Given the description of an element on the screen output the (x, y) to click on. 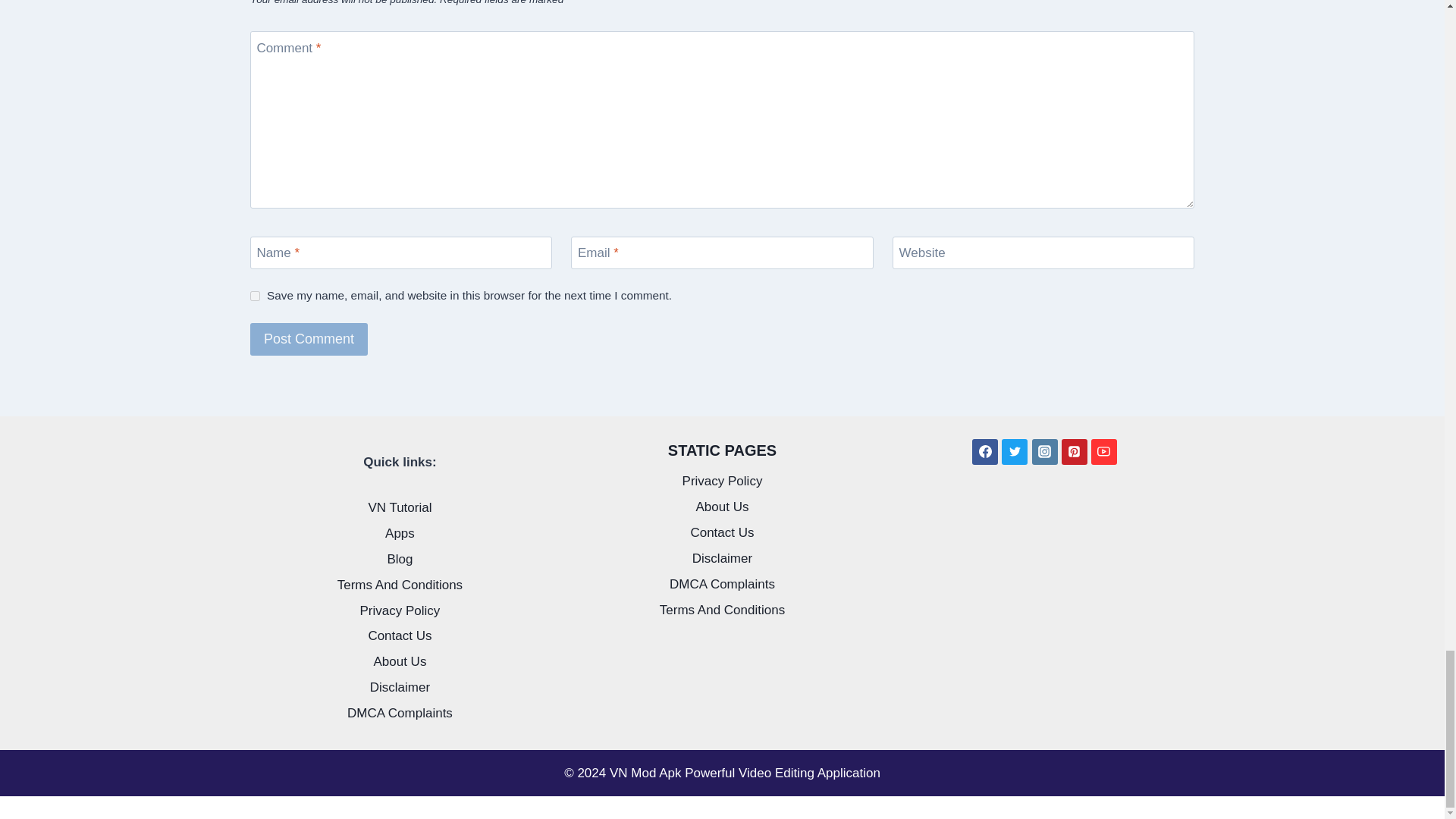
Post Comment (309, 338)
yes (255, 296)
